Given the description of an element on the screen output the (x, y) to click on. 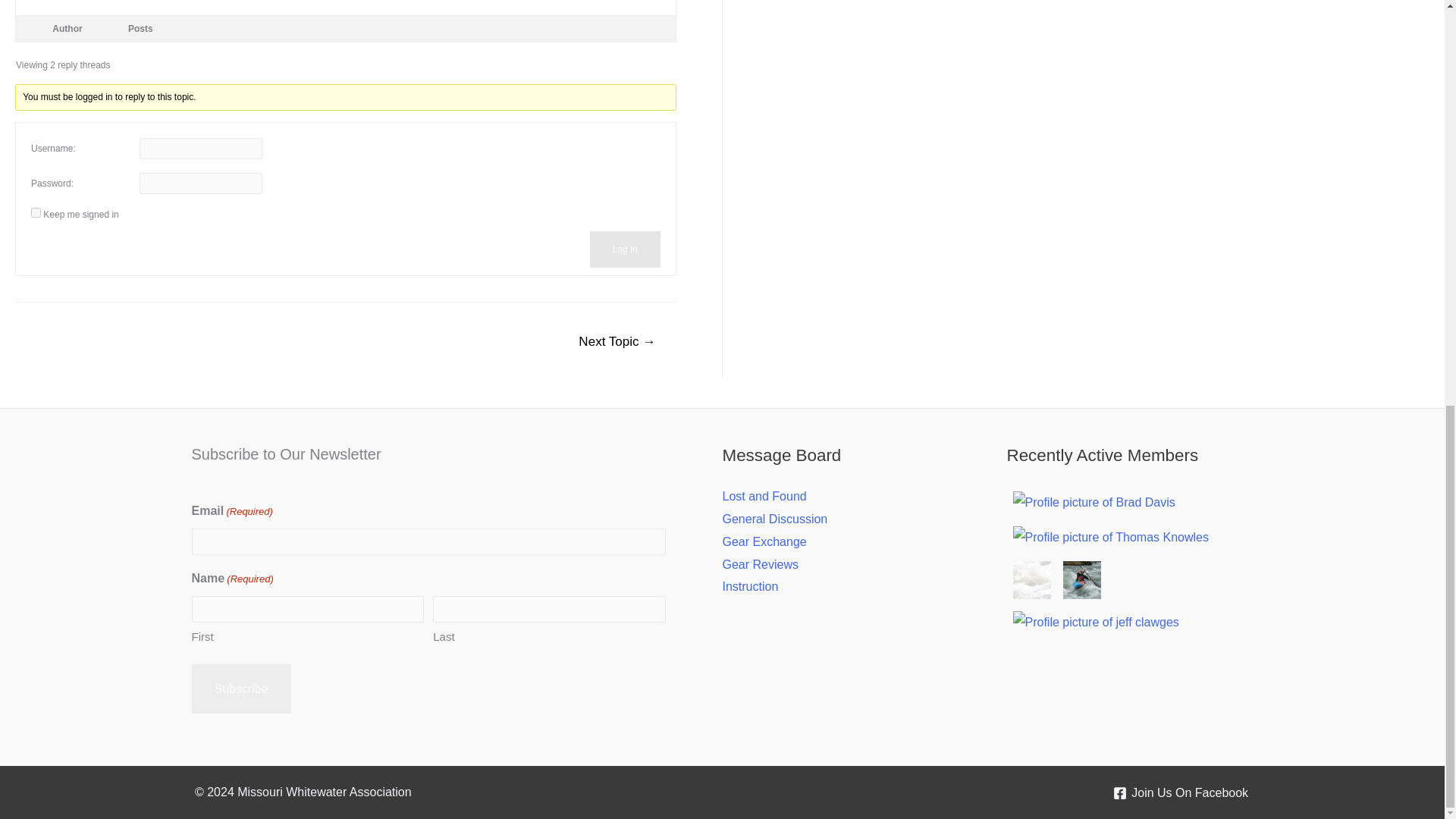
forever (35, 212)
Subscribe (239, 688)
